Given the description of an element on the screen output the (x, y) to click on. 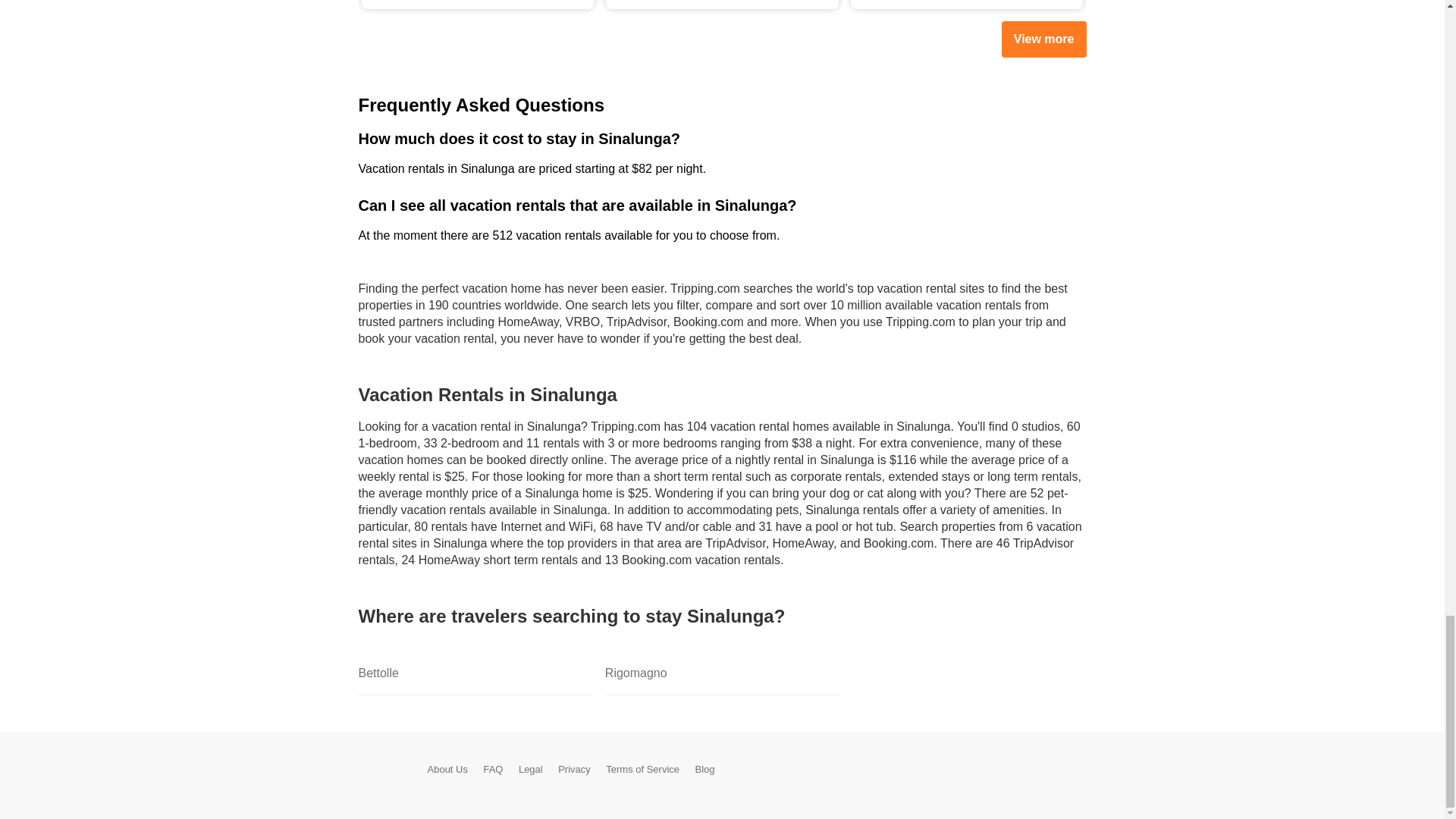
Bettolle (475, 673)
About Us (447, 768)
Privacy (574, 768)
Rigomagno (722, 673)
FAQ (492, 768)
Legal (530, 768)
Bettolle (475, 673)
Terms of Service (642, 768)
Rigomagno (722, 673)
Blog (704, 768)
